Given the description of an element on the screen output the (x, y) to click on. 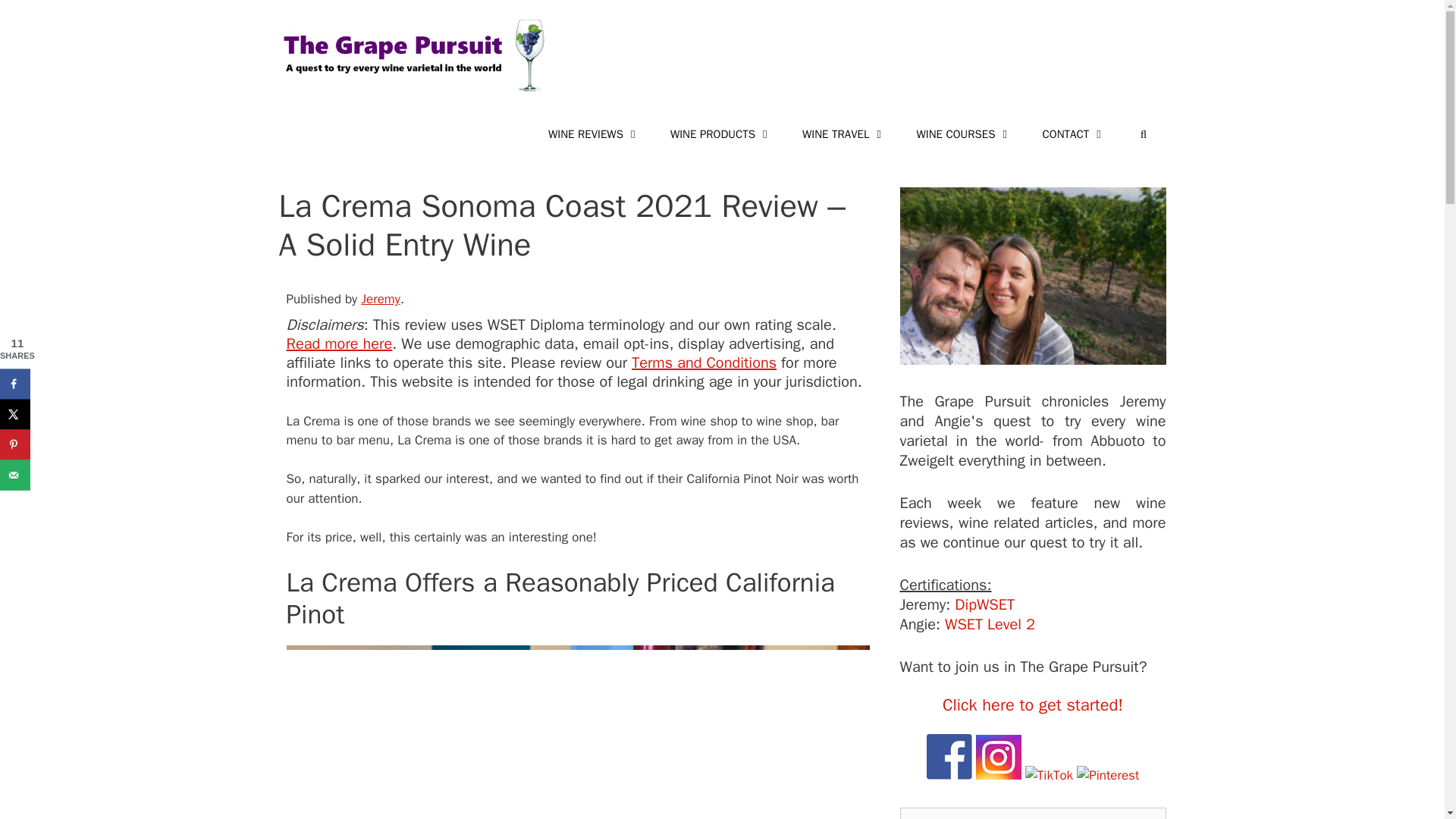
WINE PRODUCTS (721, 134)
La Crema Sonoma Coast Pinot Noir (577, 732)
The Grape Pursuit (1032, 279)
Search for: (1032, 813)
TikTok (1049, 775)
WINE TRAVEL (844, 134)
Facebook (949, 756)
Instagram (998, 756)
Pinterest (1107, 775)
WINE COURSES (963, 134)
WINE REVIEWS (593, 134)
